Given the description of an element on the screen output the (x, y) to click on. 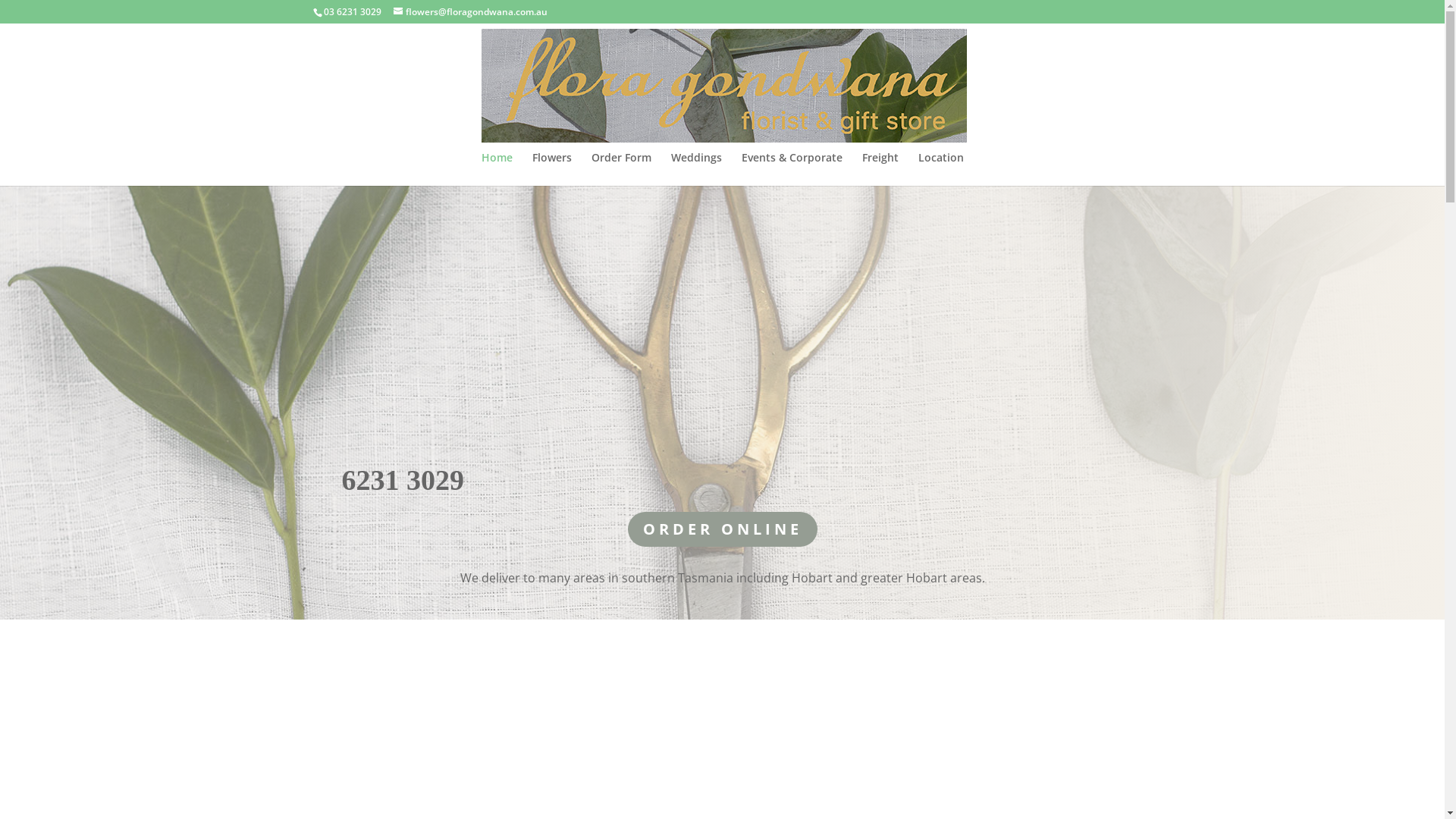
Weddings Element type: text (695, 168)
Home Element type: text (495, 168)
Flowers Element type: text (551, 168)
ORDER ONLINE Element type: text (722, 528)
Order Form Element type: text (621, 168)
flowers@floragondwana.com.au Element type: text (469, 11)
Location Element type: text (940, 168)
Events & Corporate Element type: text (791, 168)
Freight Element type: text (879, 168)
